Given the description of an element on the screen output the (x, y) to click on. 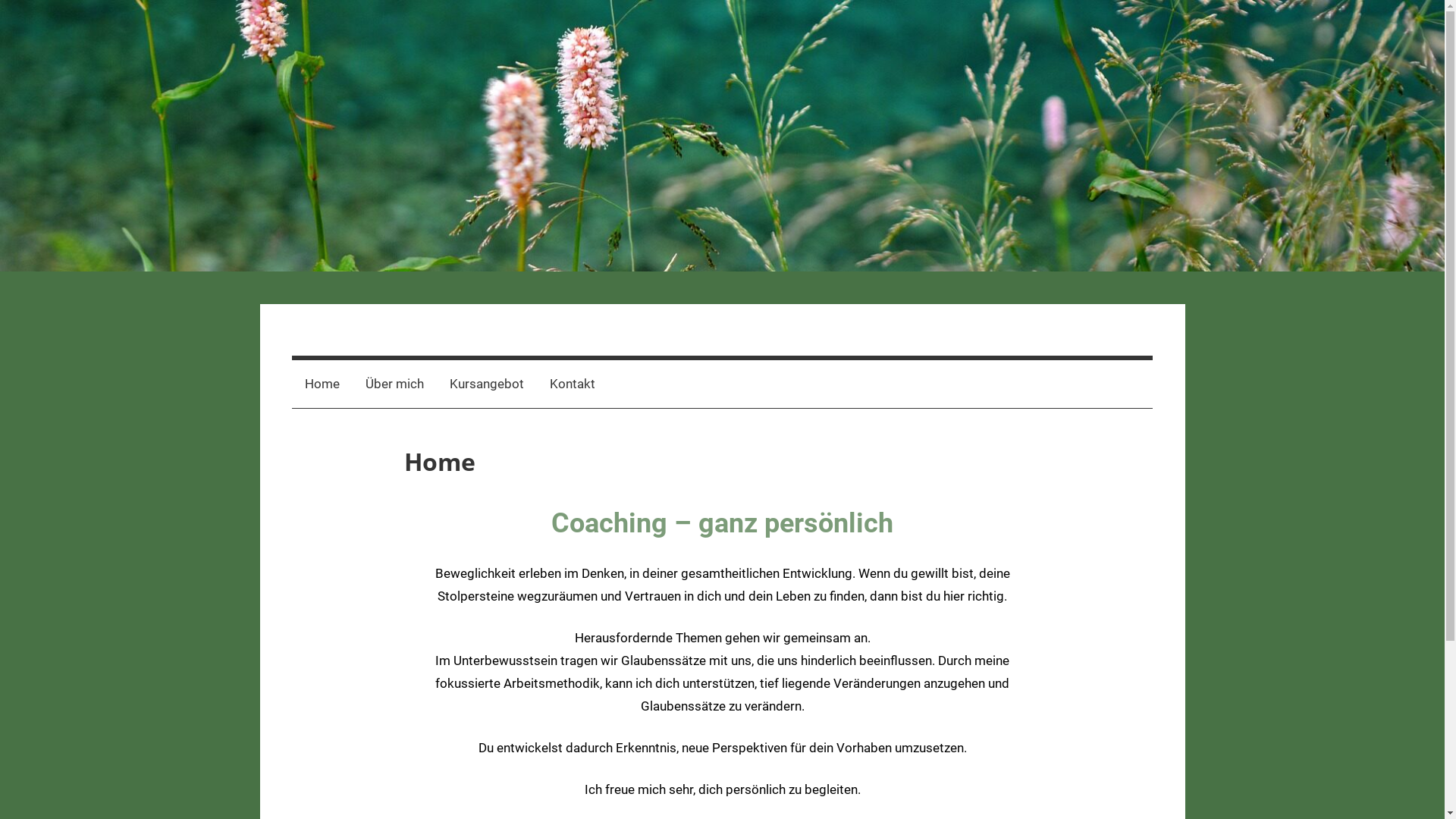
Kursangebot Element type: text (486, 384)
Allmental Element type: text (365, 350)
Zum Inhalt springen Element type: text (0, 0)
Home Element type: text (321, 384)
Kontakt Element type: text (572, 384)
